Given the description of an element on the screen output the (x, y) to click on. 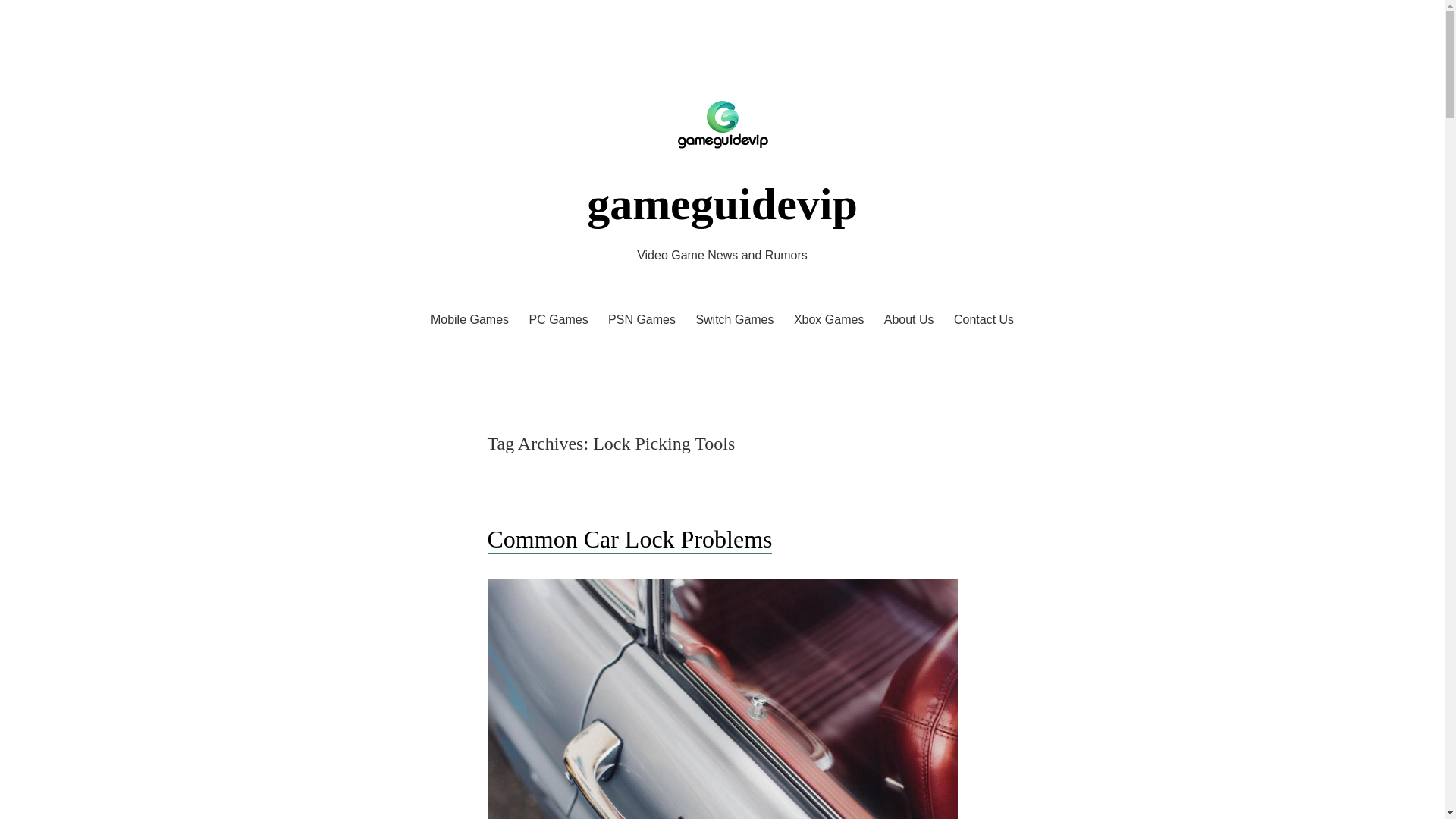
Switch Games (734, 319)
Common Car Lock Problems (628, 539)
About Us (908, 319)
gameguidevip (721, 204)
Xbox Games (828, 319)
PC Games (558, 319)
Mobile Games (469, 319)
Contact Us (983, 319)
PSN Games (641, 319)
